Given the description of an element on the screen output the (x, y) to click on. 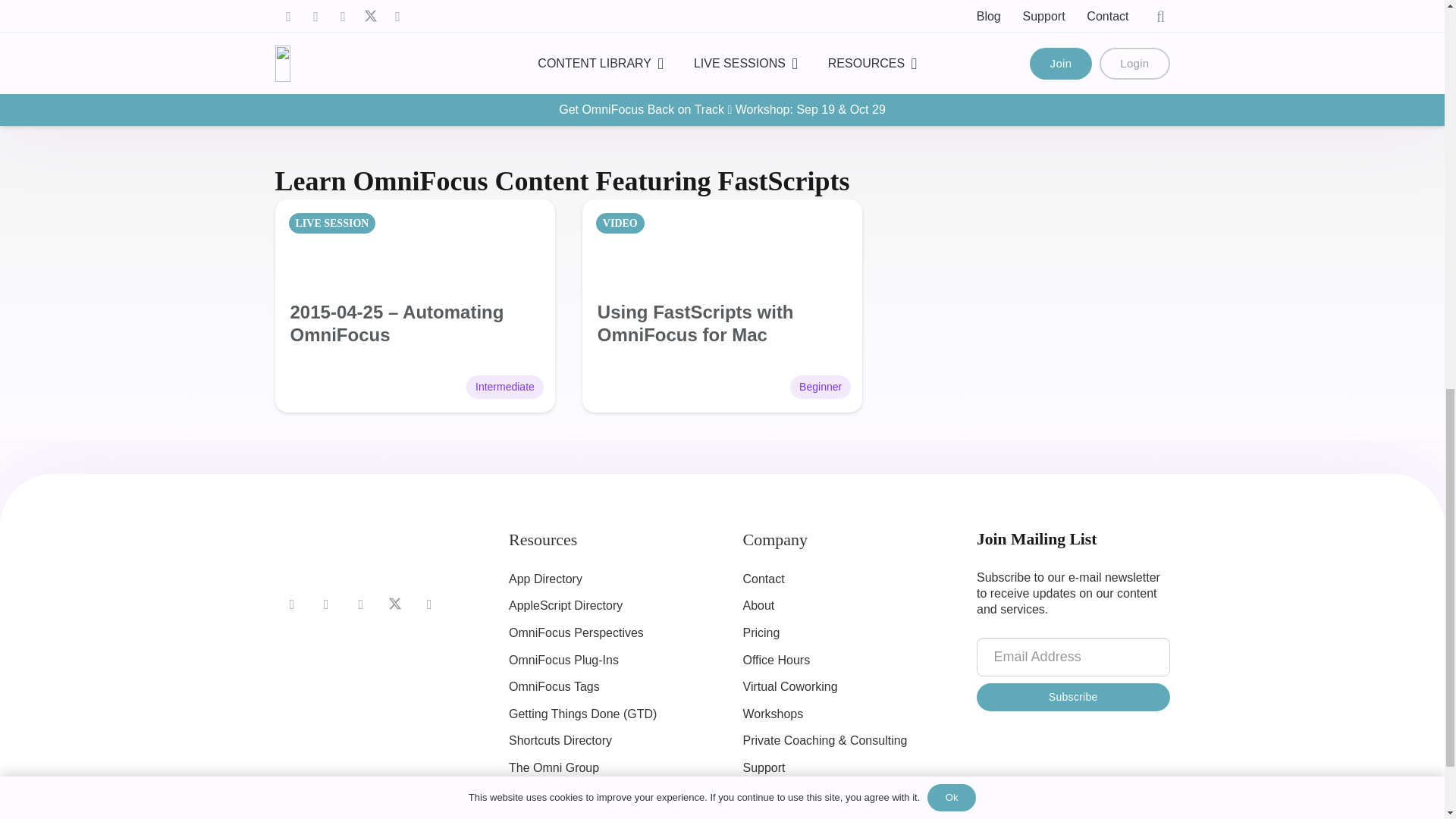
Facebook (291, 604)
iPad (326, 385)
iMac (299, 385)
LinkedIn (325, 604)
iPhone (352, 385)
Mac App Store (574, 57)
Subscribe (1073, 697)
iMac (606, 385)
